Given the description of an element on the screen output the (x, y) to click on. 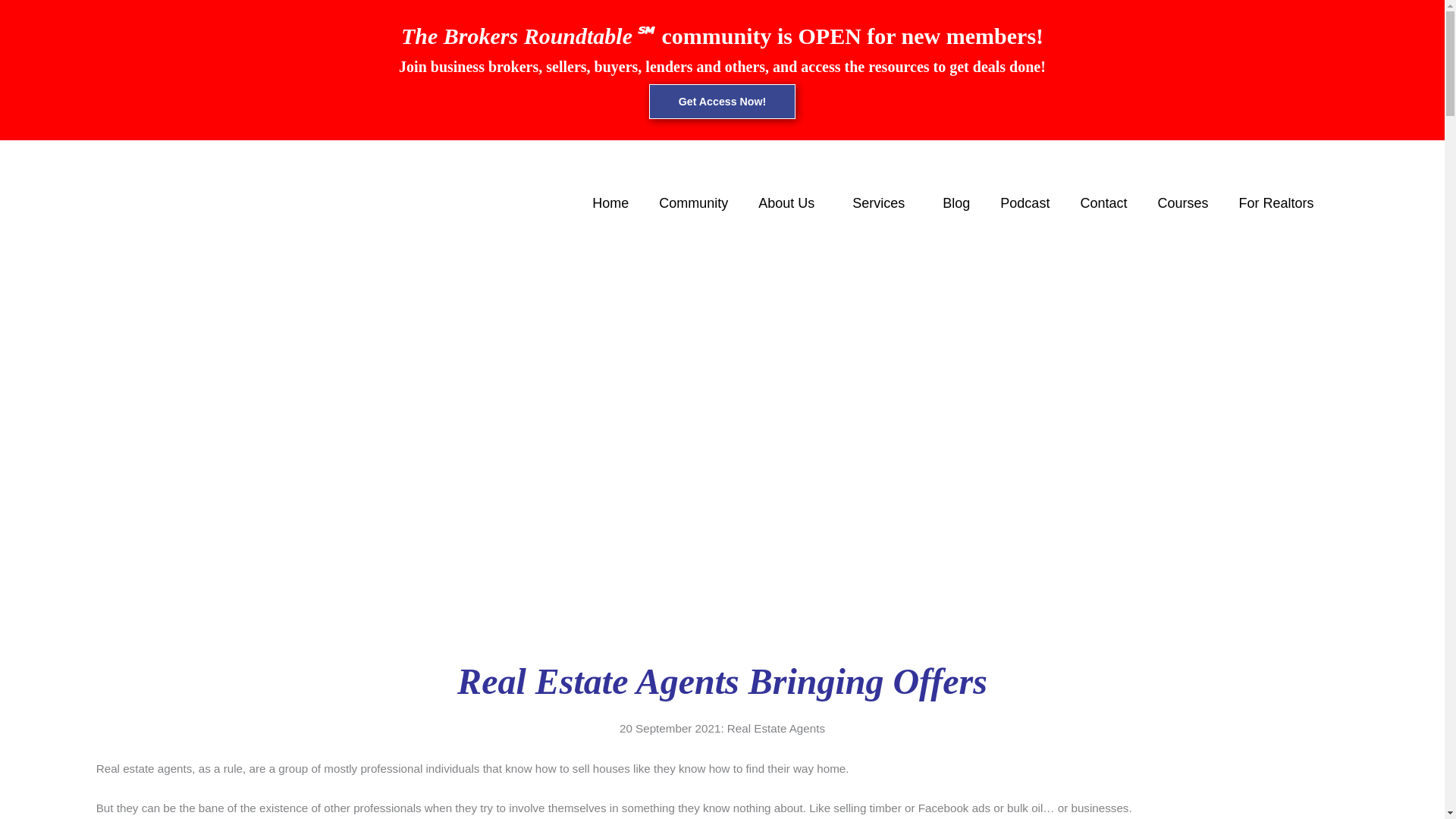
Contact (1102, 203)
Podcast (1024, 203)
About Us (789, 203)
Services (882, 203)
Community (692, 203)
For Realtors (1275, 203)
Home (609, 203)
Courses (1182, 203)
Get Access Now! (722, 101)
